Given the description of an element on the screen output the (x, y) to click on. 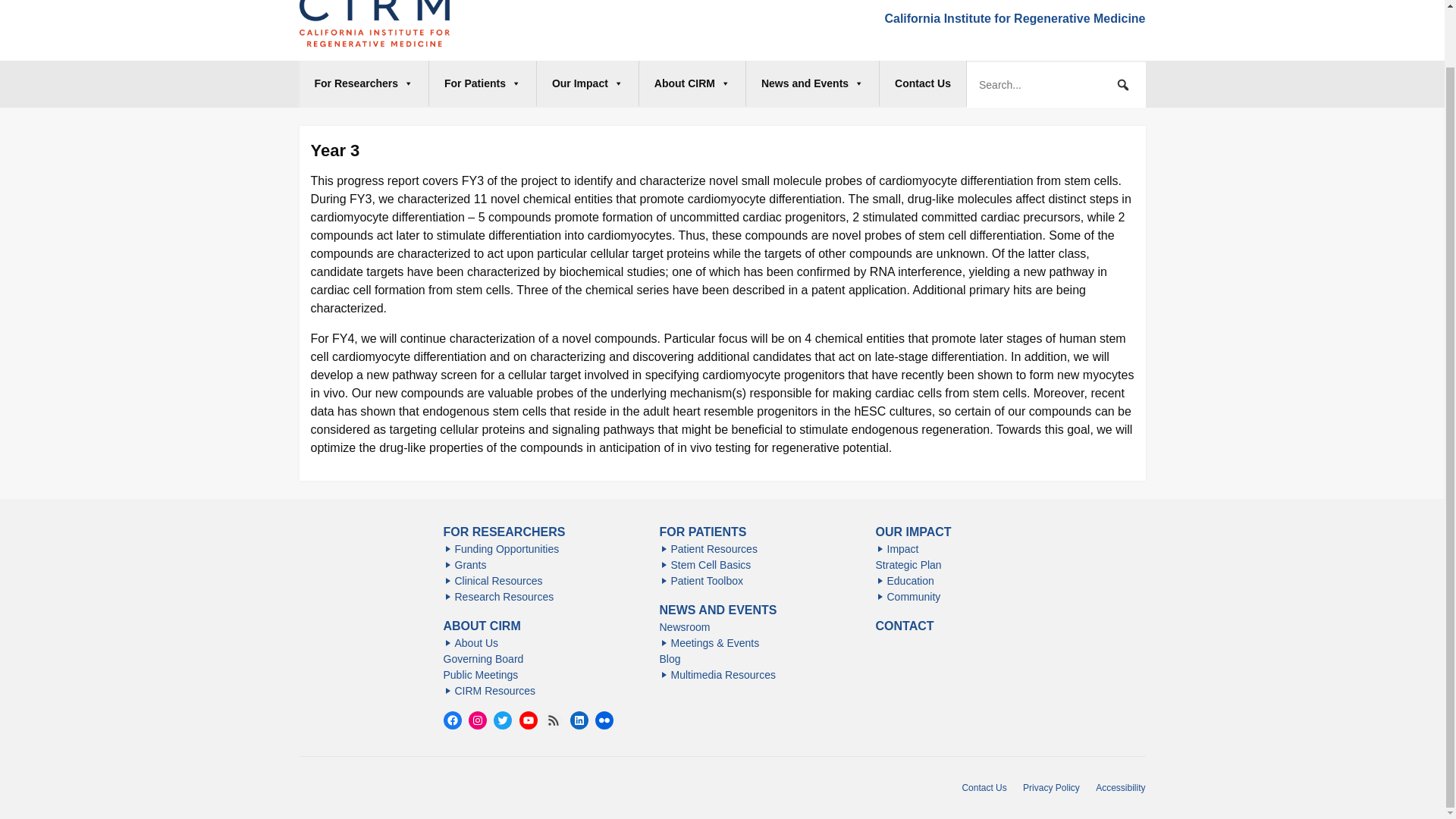
For Researchers (363, 83)
